Given the description of an element on the screen output the (x, y) to click on. 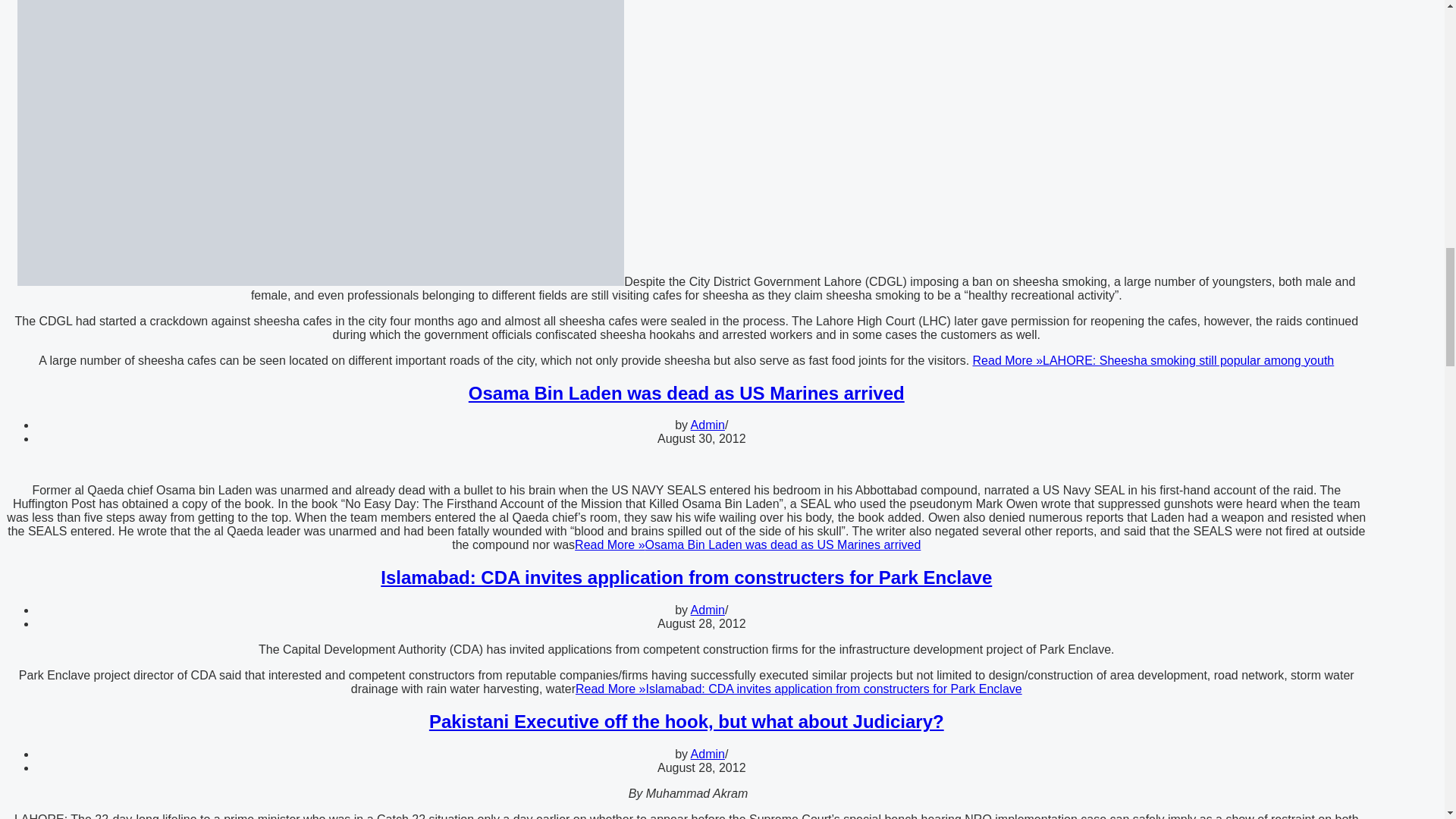
Posts by Admin (707, 753)
Posts by Admin (707, 424)
Posts by Admin (707, 609)
